Given the description of an element on the screen output the (x, y) to click on. 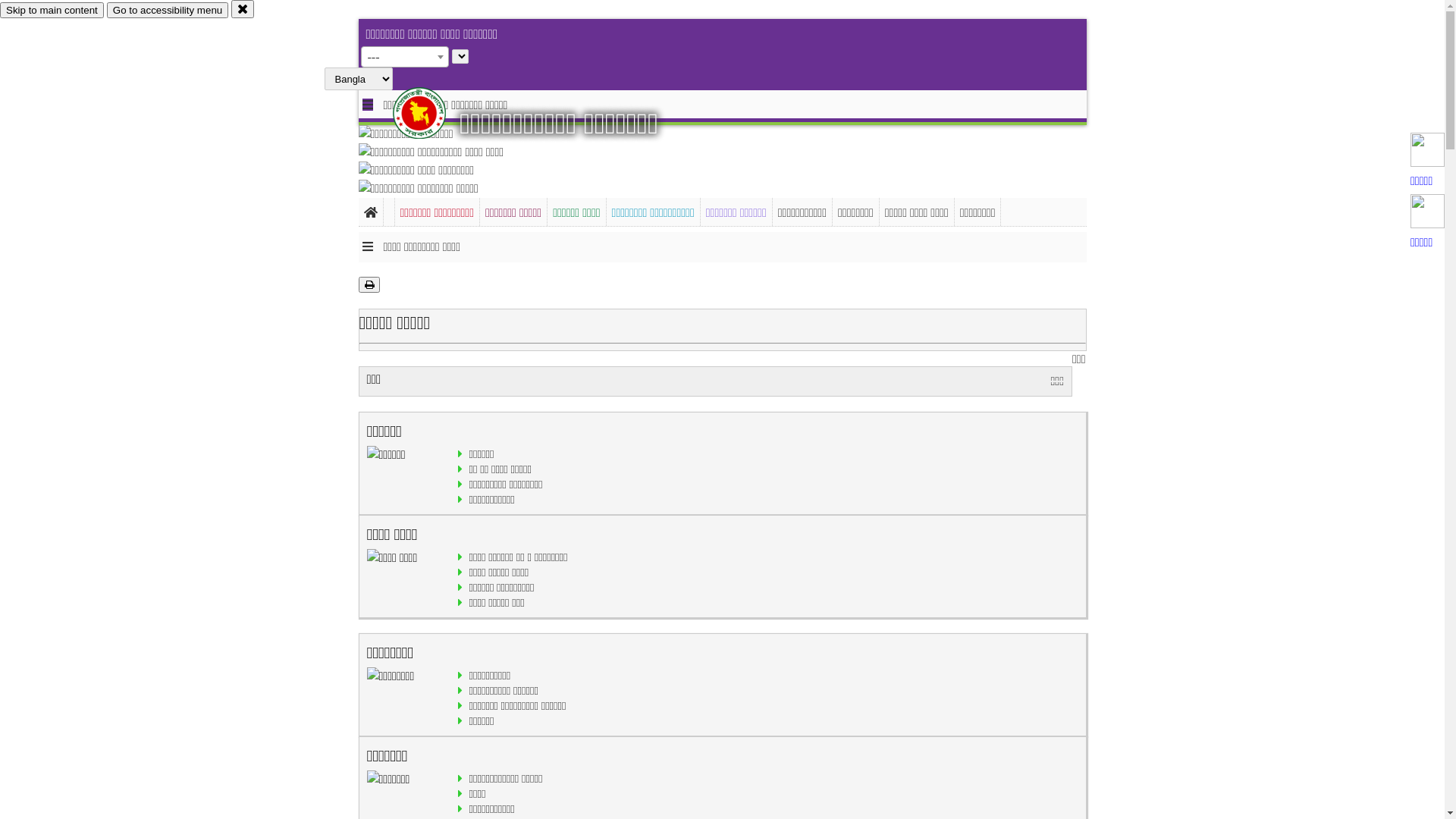
Skip to main content Element type: text (51, 10)

                
             Element type: hover (431, 112)
Go to accessibility menu Element type: text (167, 10)
close Element type: hover (242, 9)
